Given the description of an element on the screen output the (x, y) to click on. 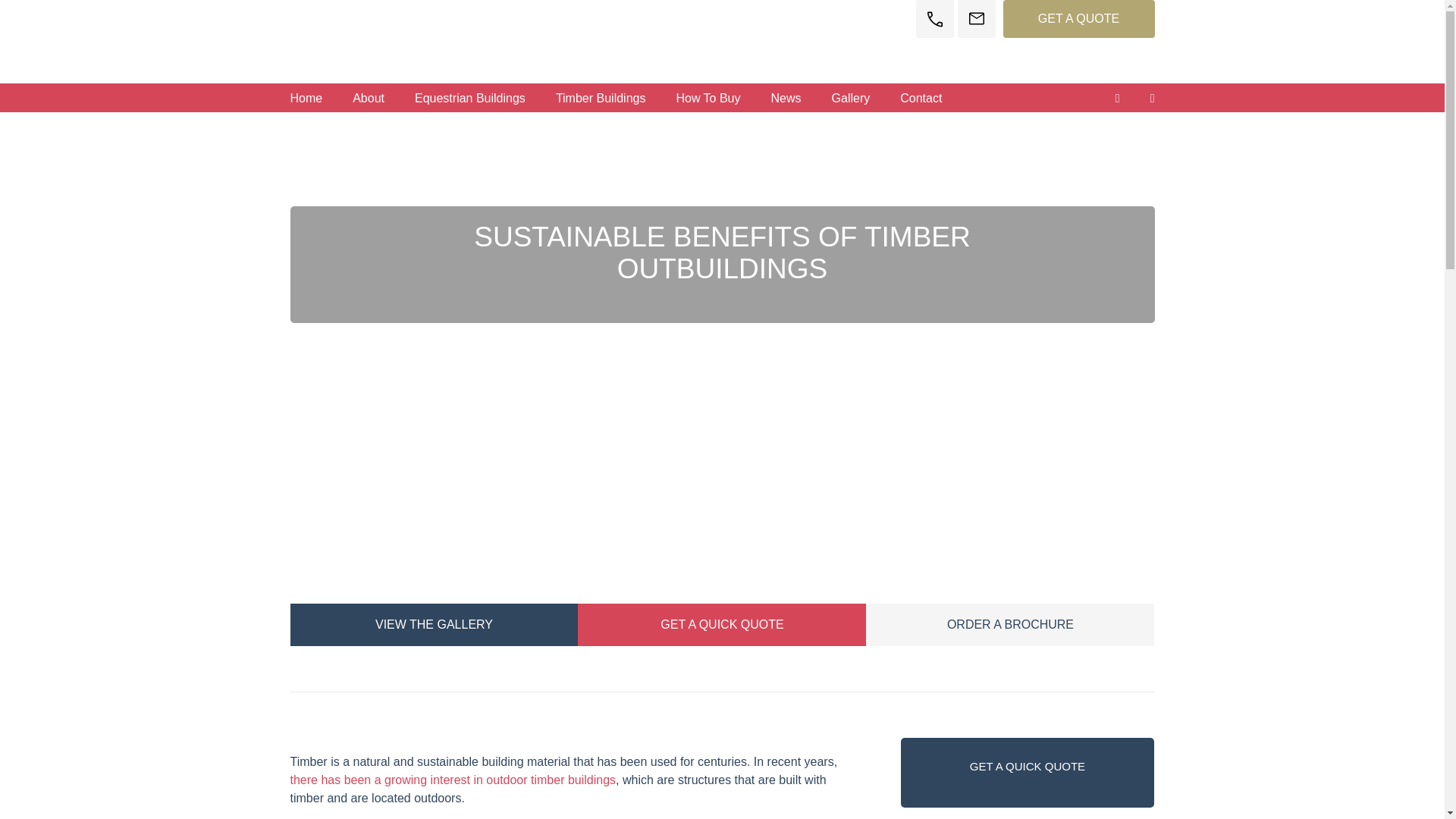
ORDER A BROCHURE (1010, 624)
News (785, 98)
Gallery (850, 98)
Contact (920, 98)
Timber Buildings (600, 98)
GET A QUOTE (1078, 18)
GET A QUICK QUOTE (722, 624)
How To Buy (708, 98)
About (367, 98)
Home (306, 98)
Equestrian Buildings (469, 98)
VIEW THE GALLERY (433, 624)
